Given the description of an element on the screen output the (x, y) to click on. 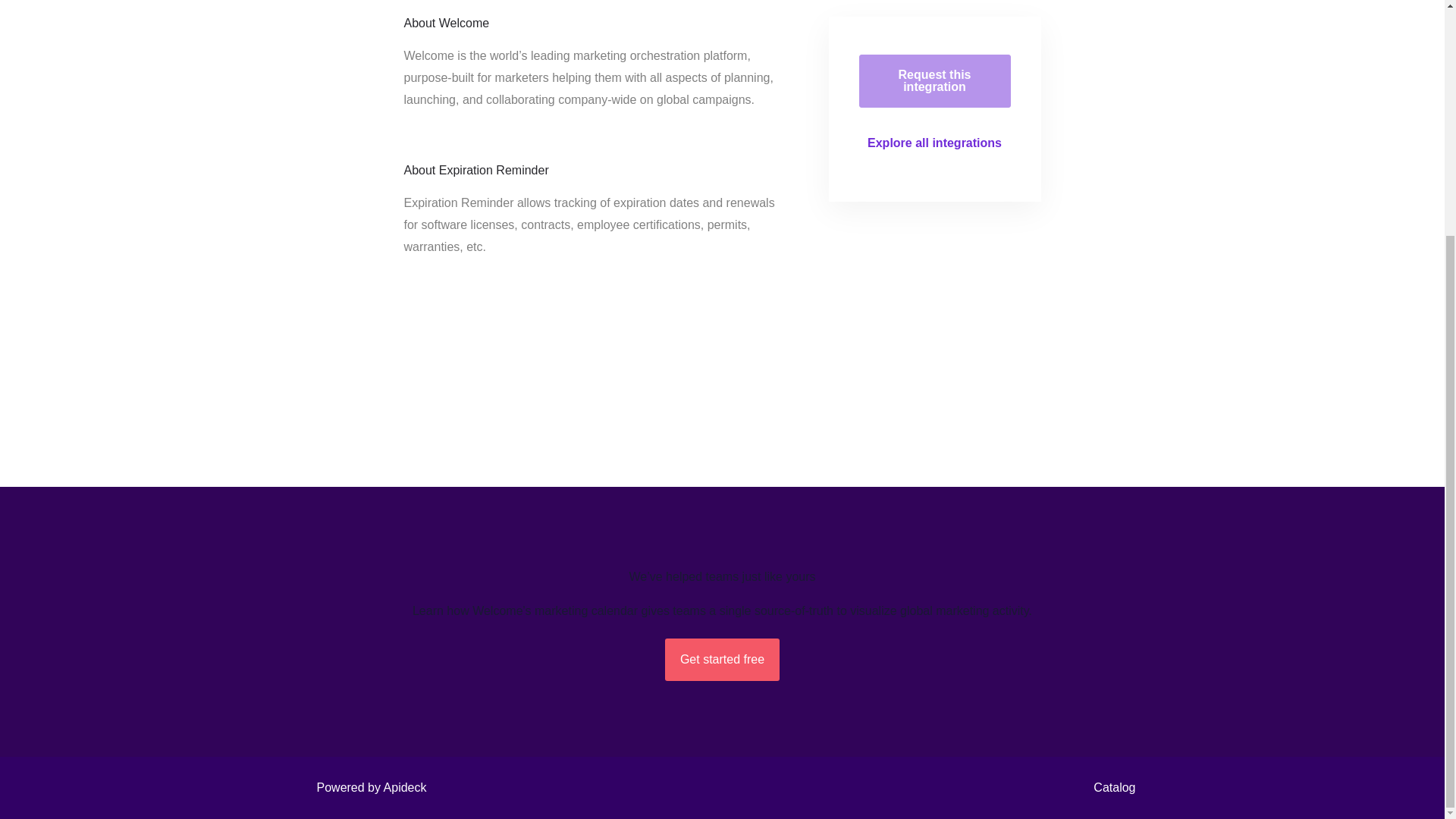
Catalog (1109, 787)
Explore all integrations (934, 142)
Powered by Apideck (366, 787)
Request this integration (934, 80)
Get started free (721, 659)
